Given the description of an element on the screen output the (x, y) to click on. 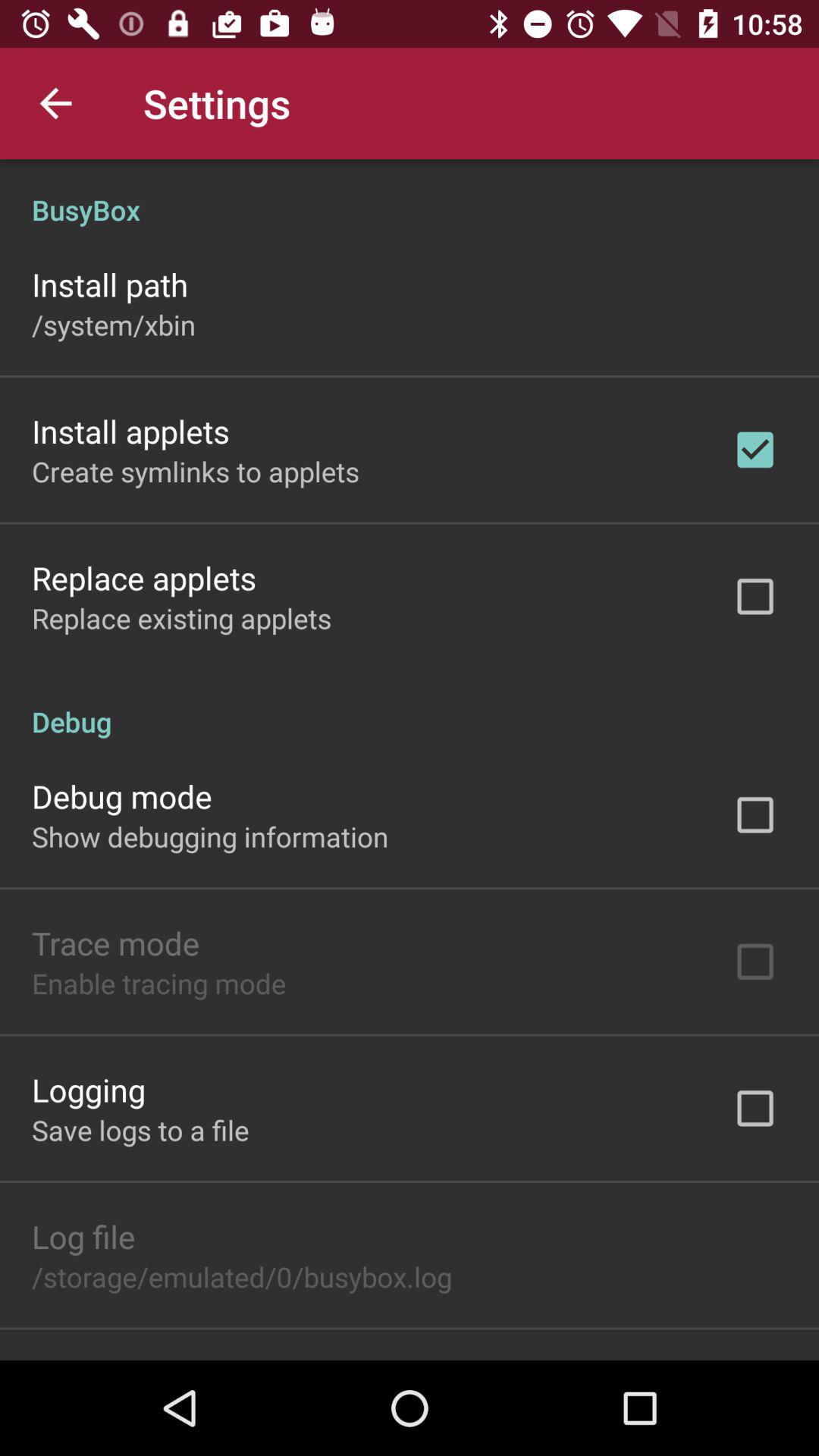
tap icon above the enable tracing mode item (115, 942)
